Given the description of an element on the screen output the (x, y) to click on. 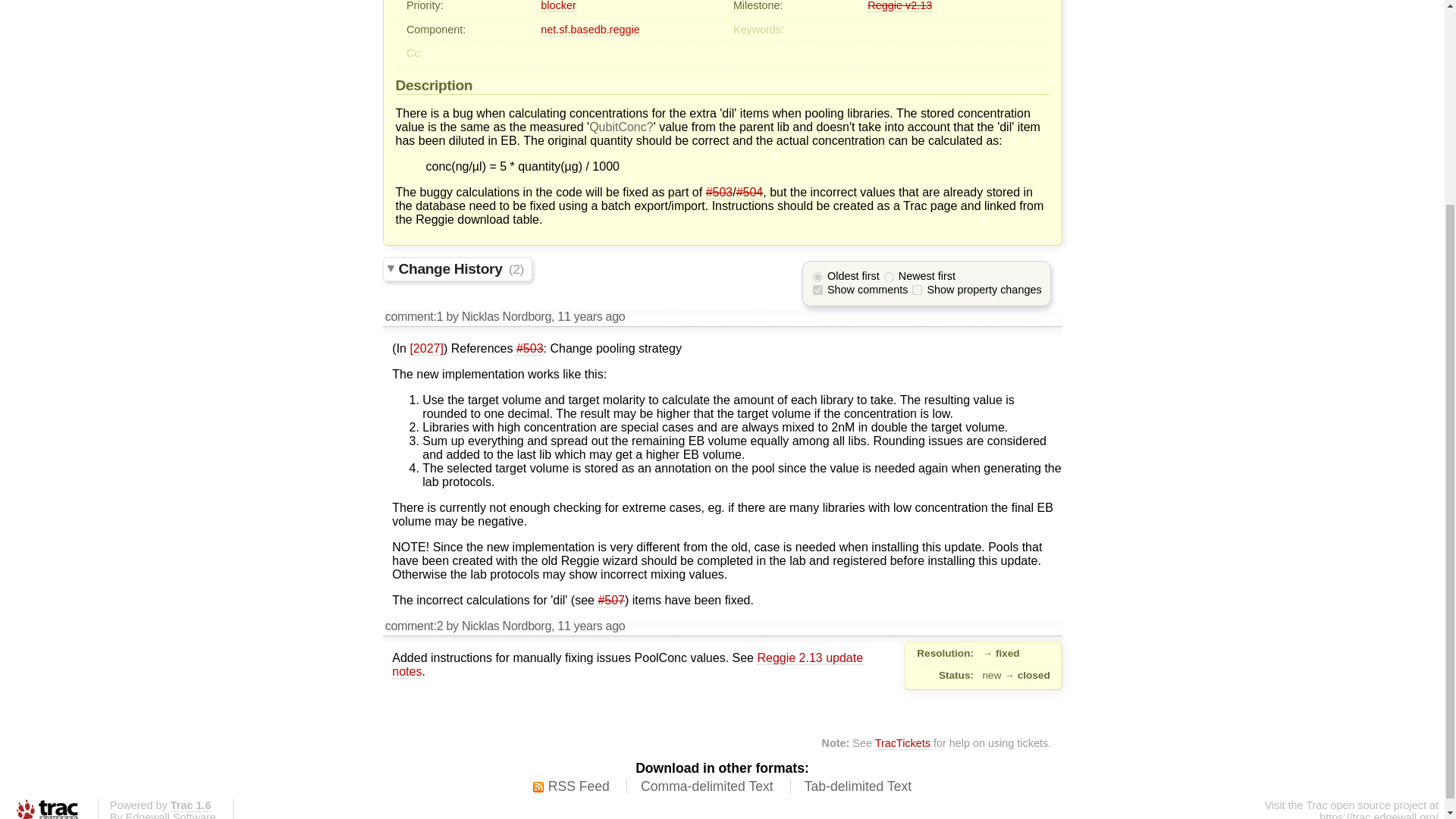
RSS Feed (571, 786)
TracTickets (902, 743)
newest (888, 276)
QubitConc (621, 126)
net.sf.basedb.reggie (589, 29)
See timeline at Sep 30, 2013, 9:36:23 AM (590, 316)
11 years ago (590, 625)
on (916, 289)
oldest (817, 276)
comment:1 (414, 316)
11 years ago (590, 316)
comment:2 (414, 625)
Reggie 2.13 update notes (627, 664)
blocker (557, 6)
Reggie v2.13 (899, 6)
